Given the description of an element on the screen output the (x, y) to click on. 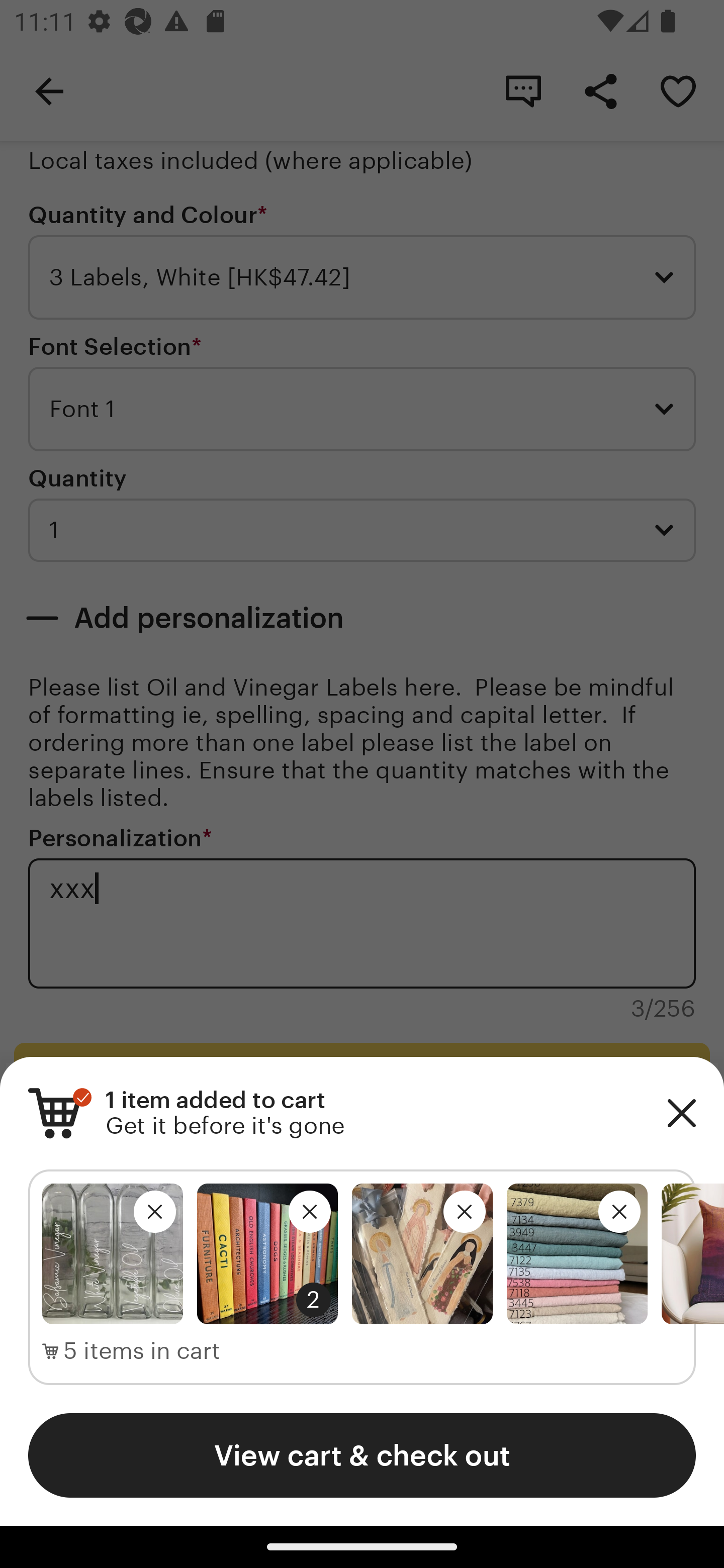
5 items in cart (130, 1351)
View cart & check out (361, 1454)
